Given the description of an element on the screen output the (x, y) to click on. 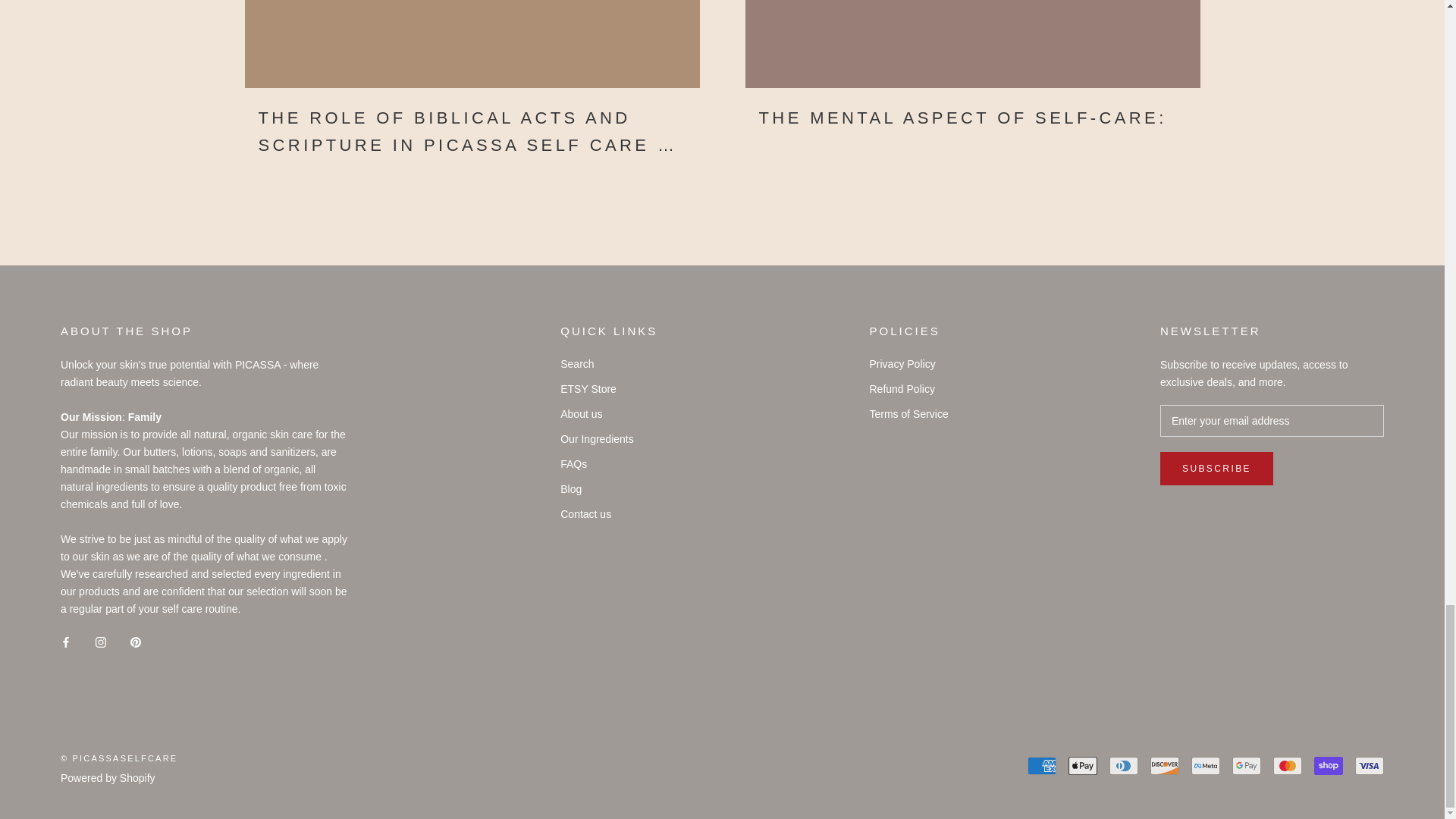
Google Pay (1245, 765)
Mastercard (1286, 765)
Discover (1164, 765)
Apple Pay (1082, 765)
Shop Pay (1328, 765)
American Express (1042, 765)
Visa (1369, 765)
Meta Pay (1205, 765)
Diners Club (1123, 765)
